Given the description of an element on the screen output the (x, y) to click on. 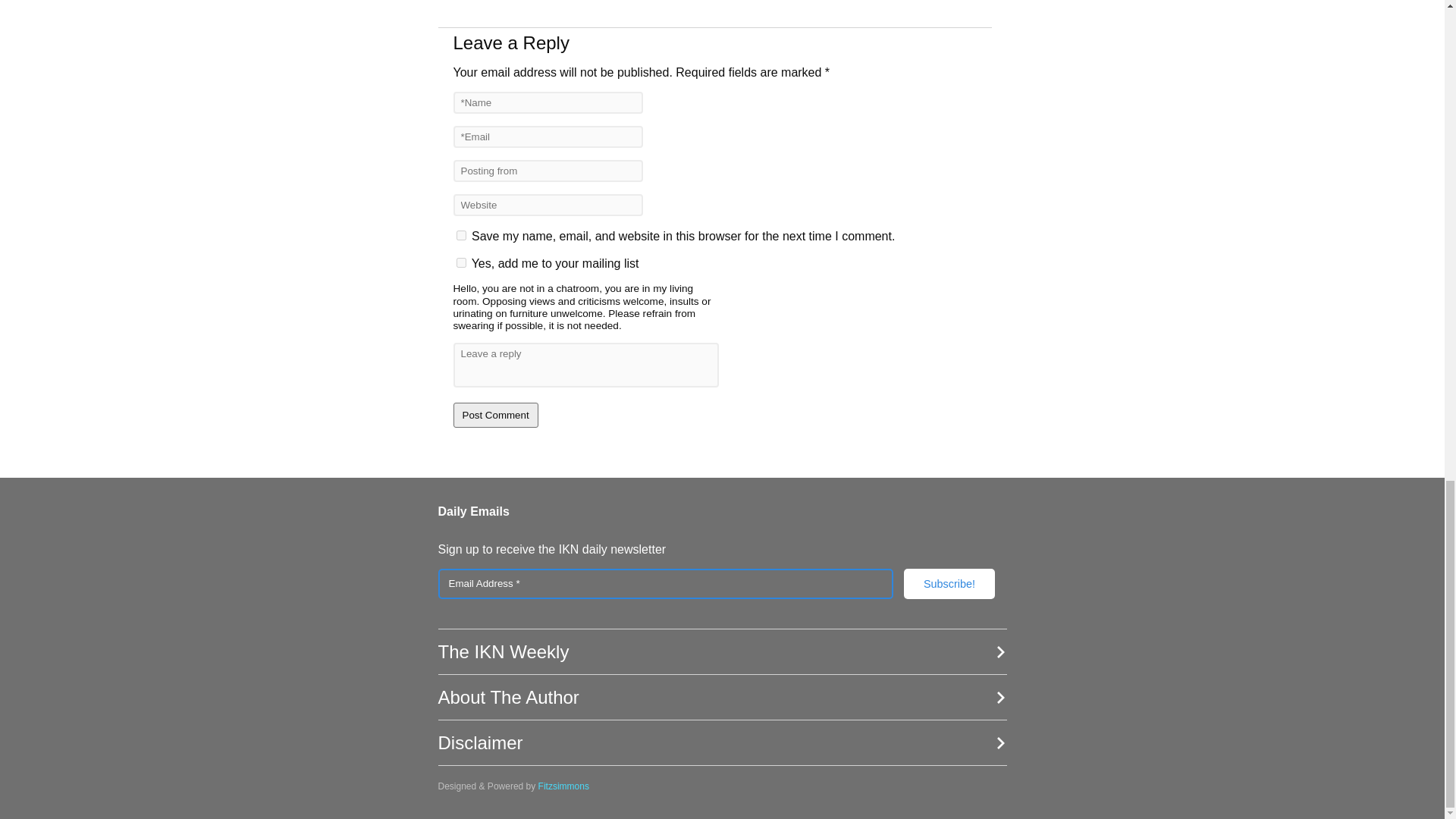
yes (461, 235)
1 (461, 262)
Post Comment (495, 414)
Subscribe! (949, 583)
About The Author (722, 697)
Subscribe! (949, 583)
Email Address (665, 583)
Fitzsimmons (563, 786)
Post Comment (495, 414)
